Given the description of an element on the screen output the (x, y) to click on. 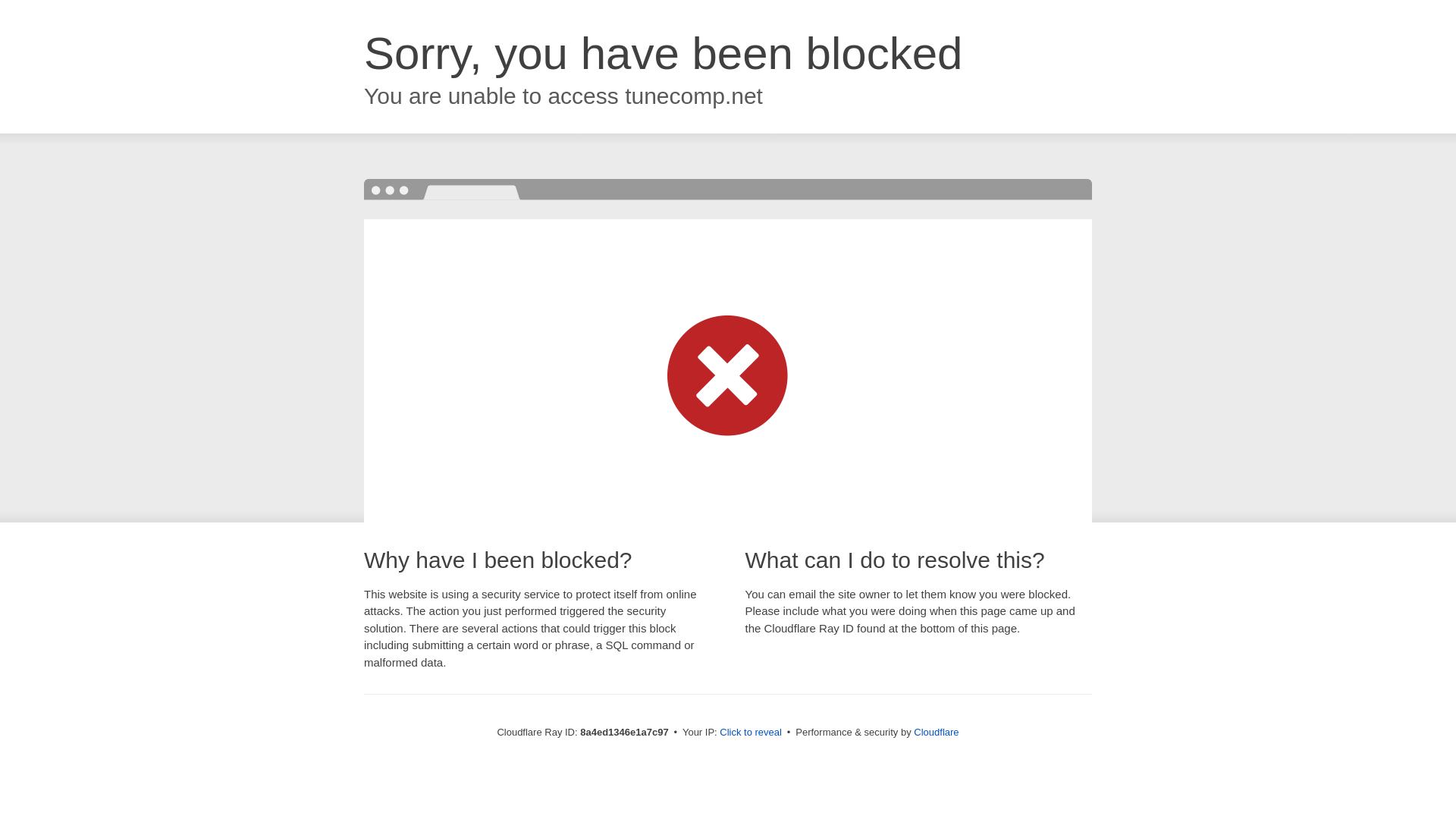
Click to reveal (750, 732)
Cloudflare (936, 731)
